Given the description of an element on the screen output the (x, y) to click on. 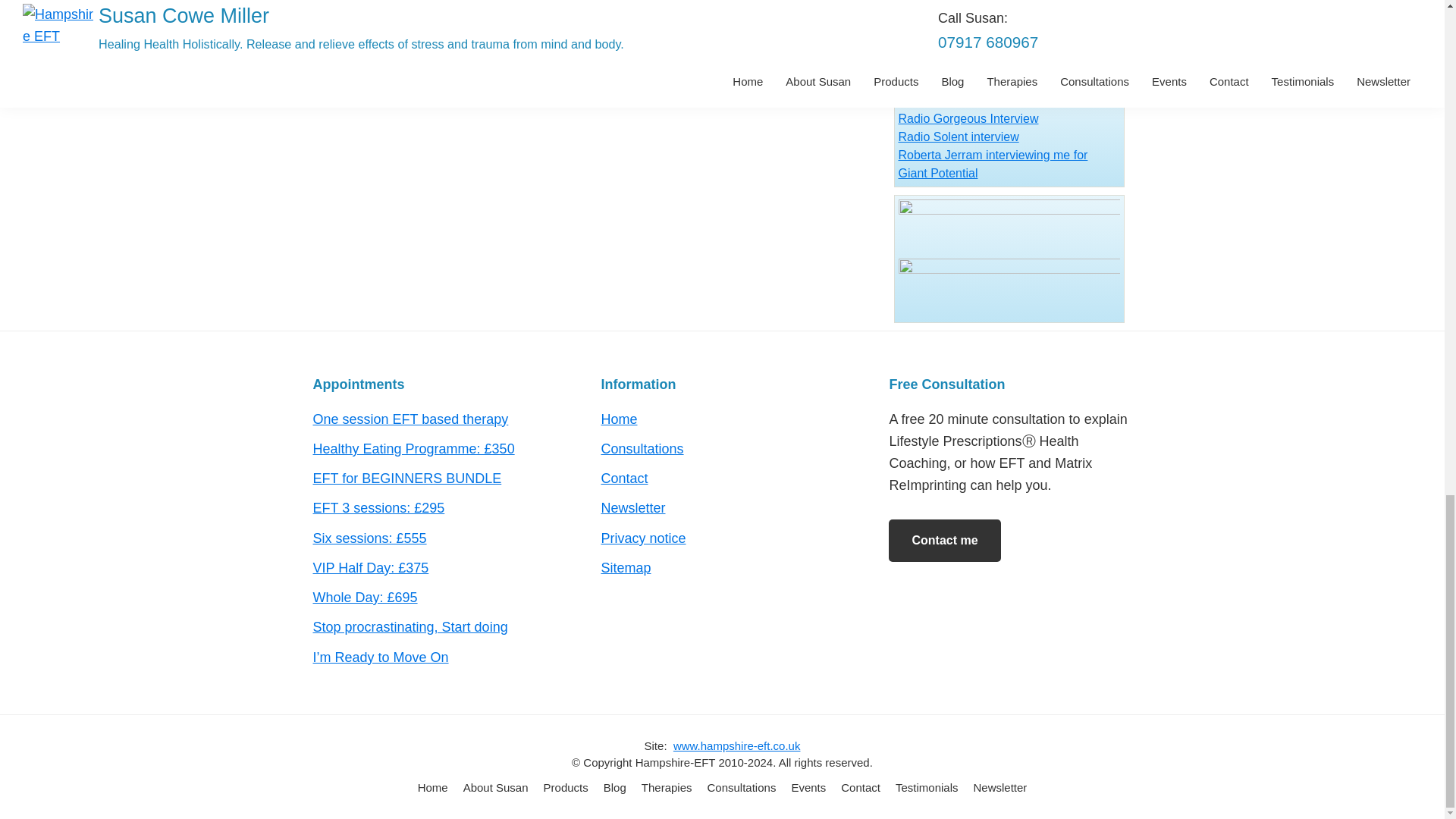
susancowereiki (1008, 267)
Website: www.hampshire-eft.co.uk (736, 745)
